Given the description of an element on the screen output the (x, y) to click on. 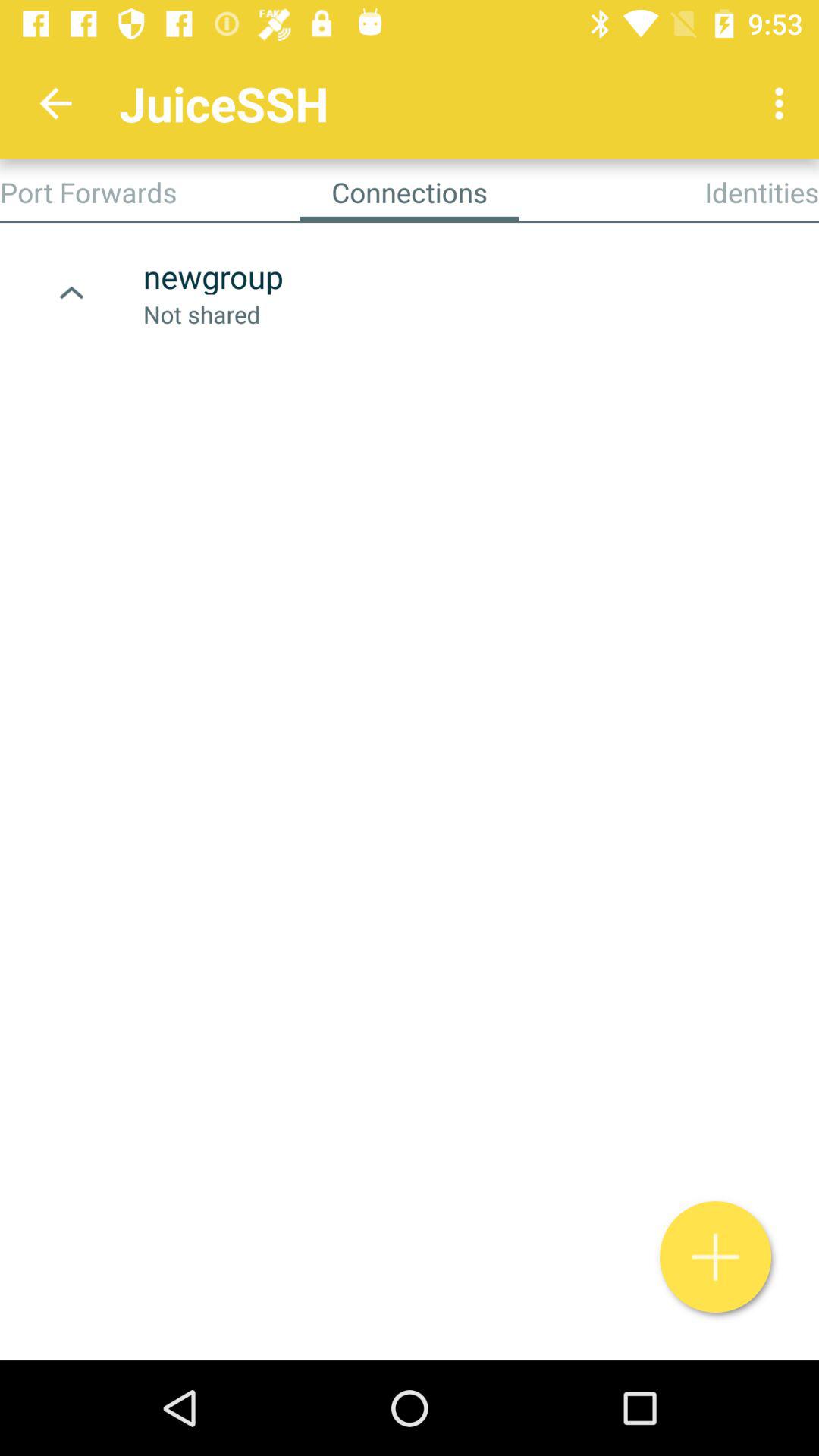
choose app to the left of juicessh (55, 103)
